Given the description of an element on the screen output the (x, y) to click on. 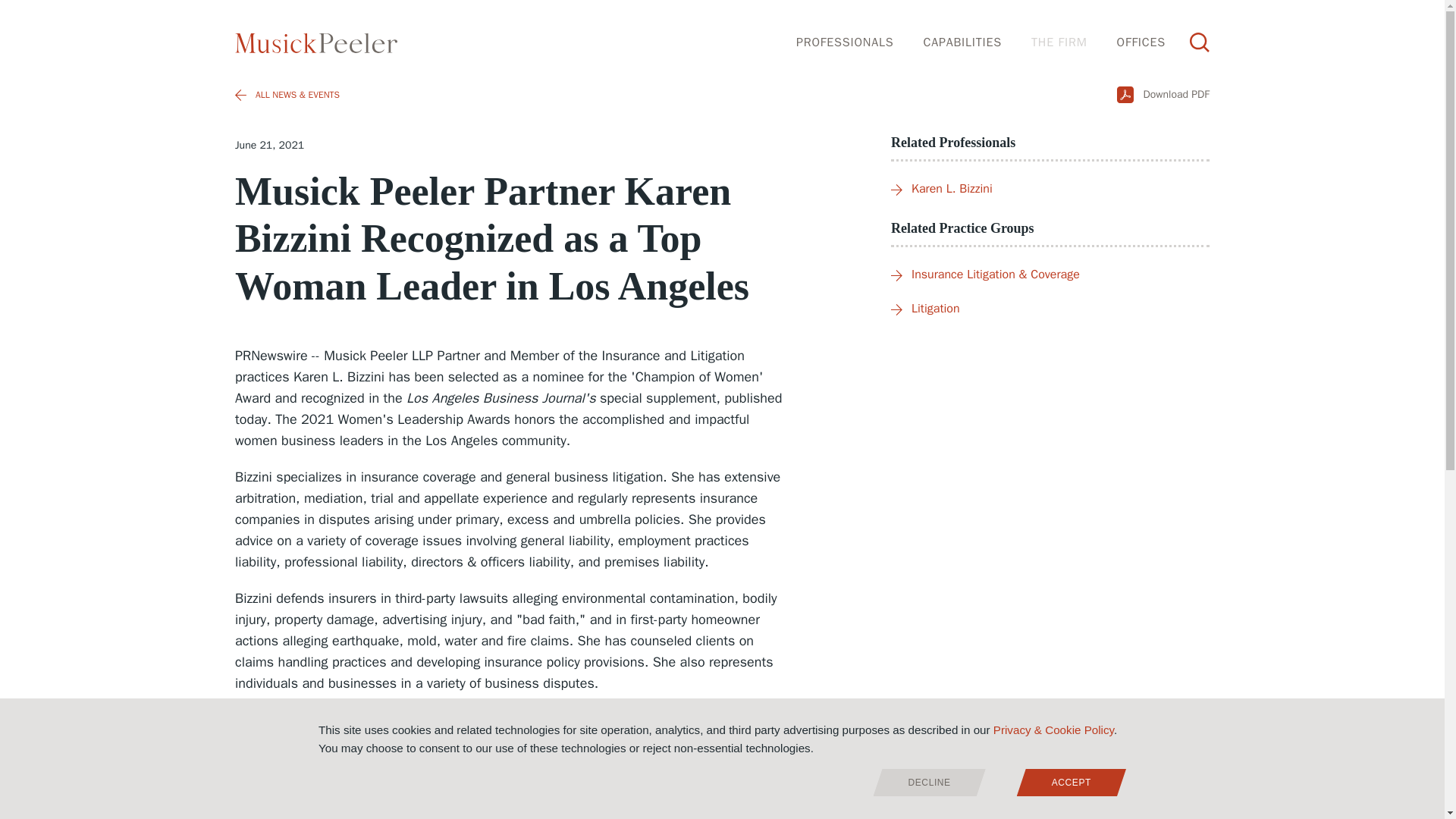
DECLINE (929, 782)
ACCEPT (1070, 782)
PROFESSIONALS (844, 42)
